Given the description of an element on the screen output the (x, y) to click on. 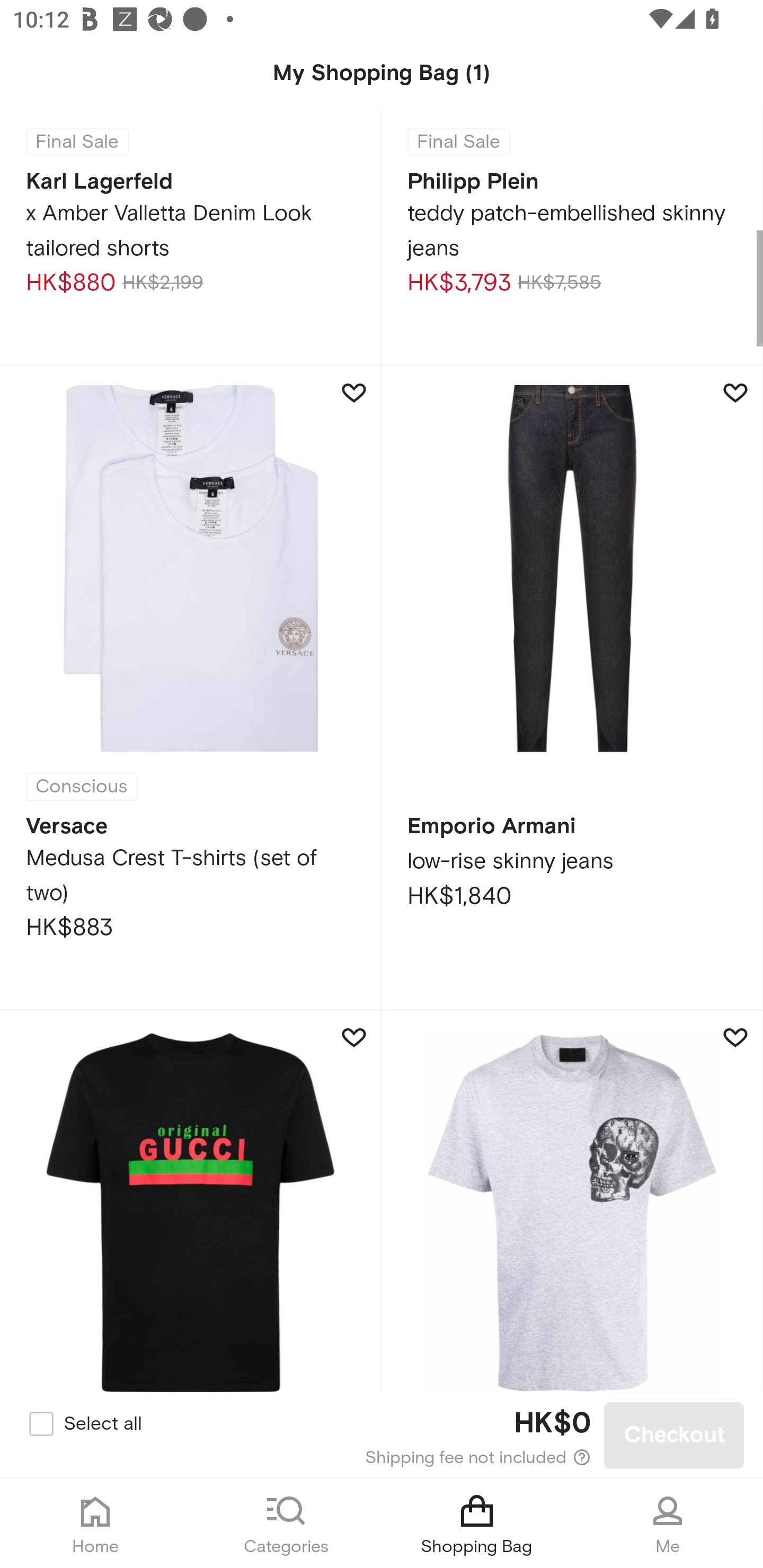
Emporio Armani low-rise skinny jeans  HK$1,840 (572, 687)
HK$0 Shipping fee not included (382, 1435)
Checkout (673, 1435)
Home (95, 1523)
Categories (285, 1523)
Me (667, 1523)
